Given the description of an element on the screen output the (x, y) to click on. 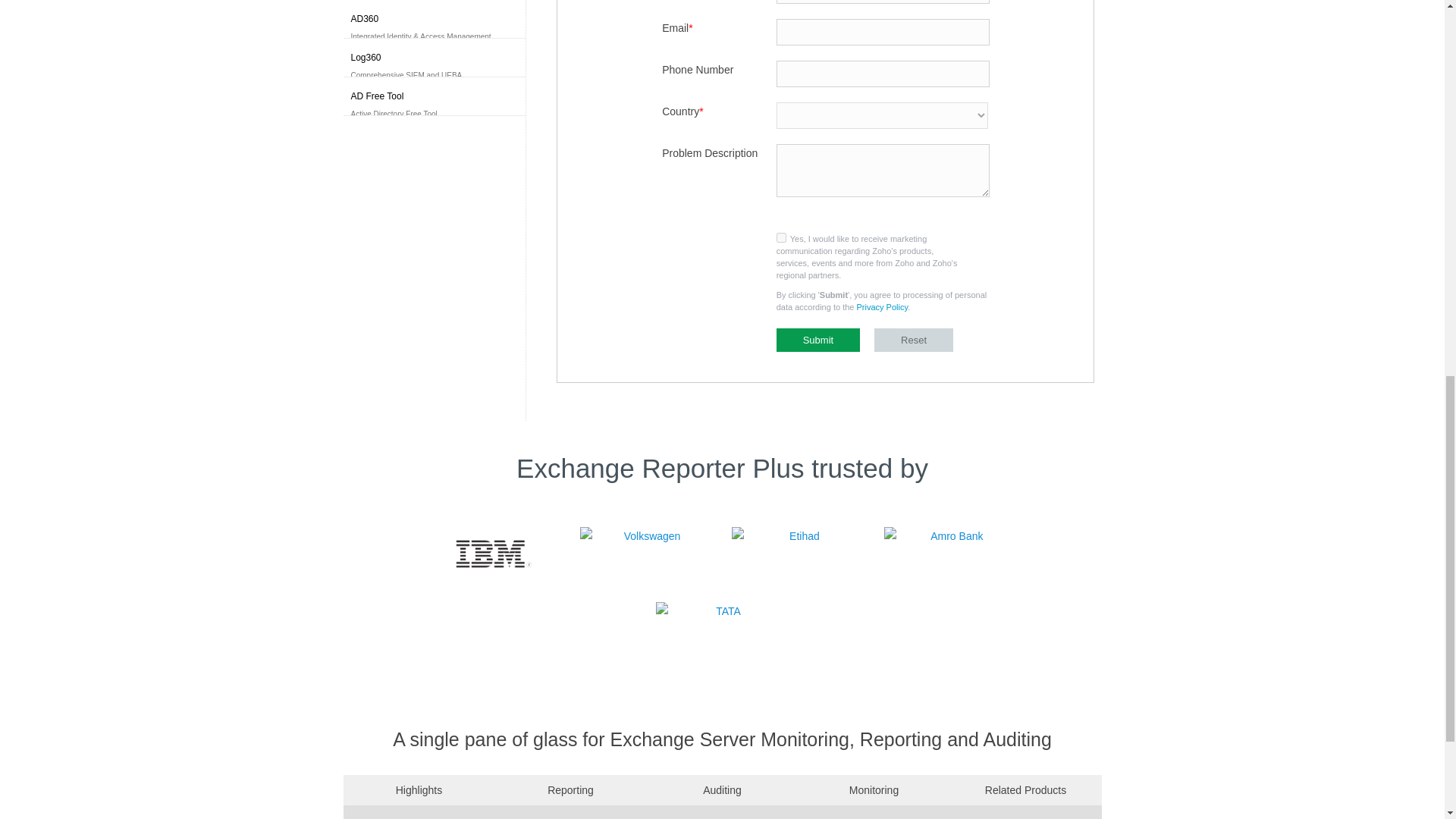
Submit (818, 340)
Reset (914, 340)
on (781, 237)
